Given the description of an element on the screen output the (x, y) to click on. 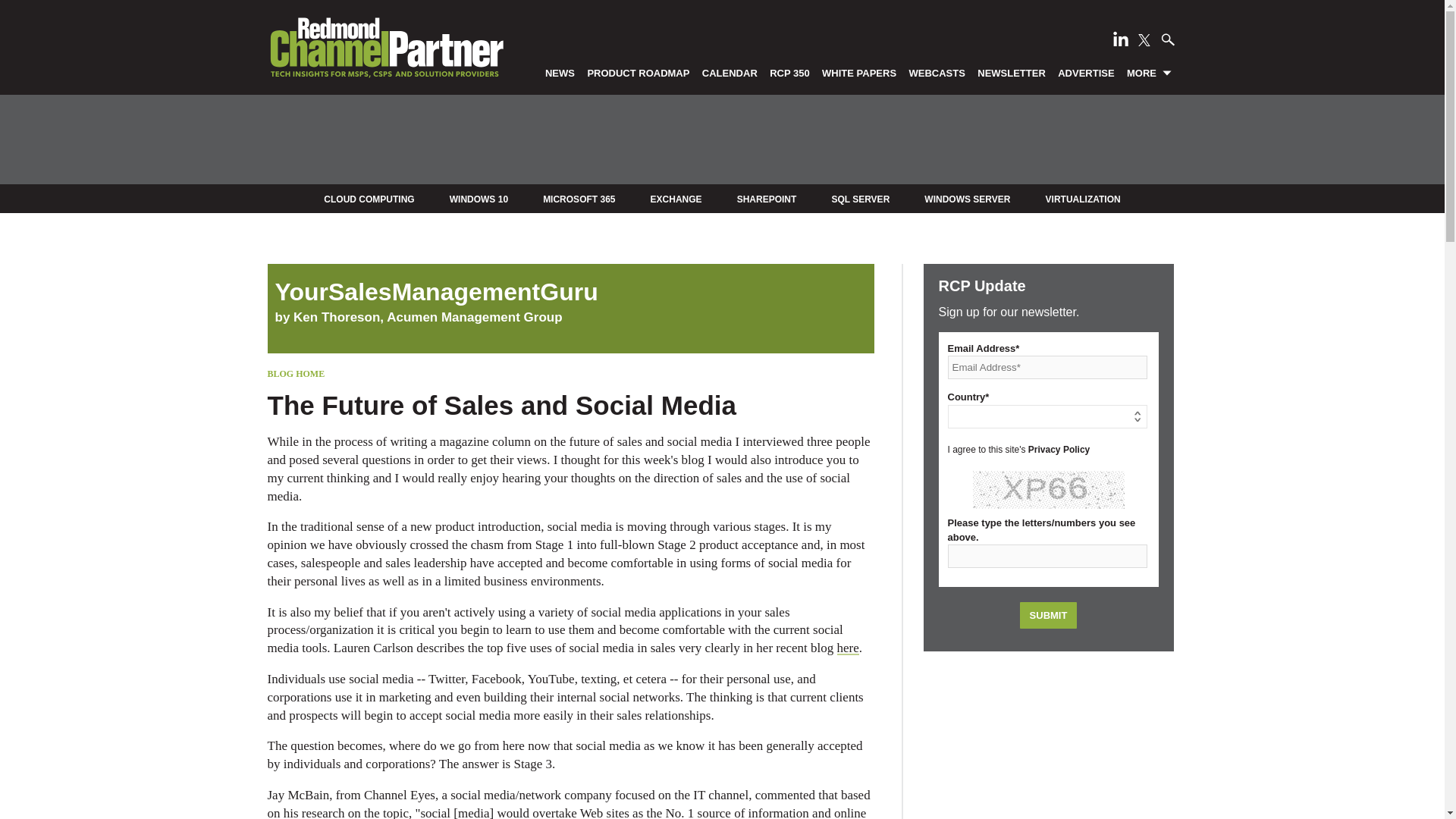
EXCHANGE (675, 199)
MICROSOFT 365 (578, 199)
here (848, 647)
RCP 350 (790, 72)
VIRTUALIZATION (1083, 199)
PRODUCT ROADMAP (638, 72)
Submit (1048, 614)
3rd party ad content (721, 140)
Blog archive (569, 291)
WEBCASTS (936, 72)
NEWSLETTER (1011, 72)
3rd party ad content (1047, 742)
CALENDAR (729, 72)
CLOUD COMPUTING (368, 199)
SHAREPOINT (766, 199)
